Given the description of an element on the screen output the (x, y) to click on. 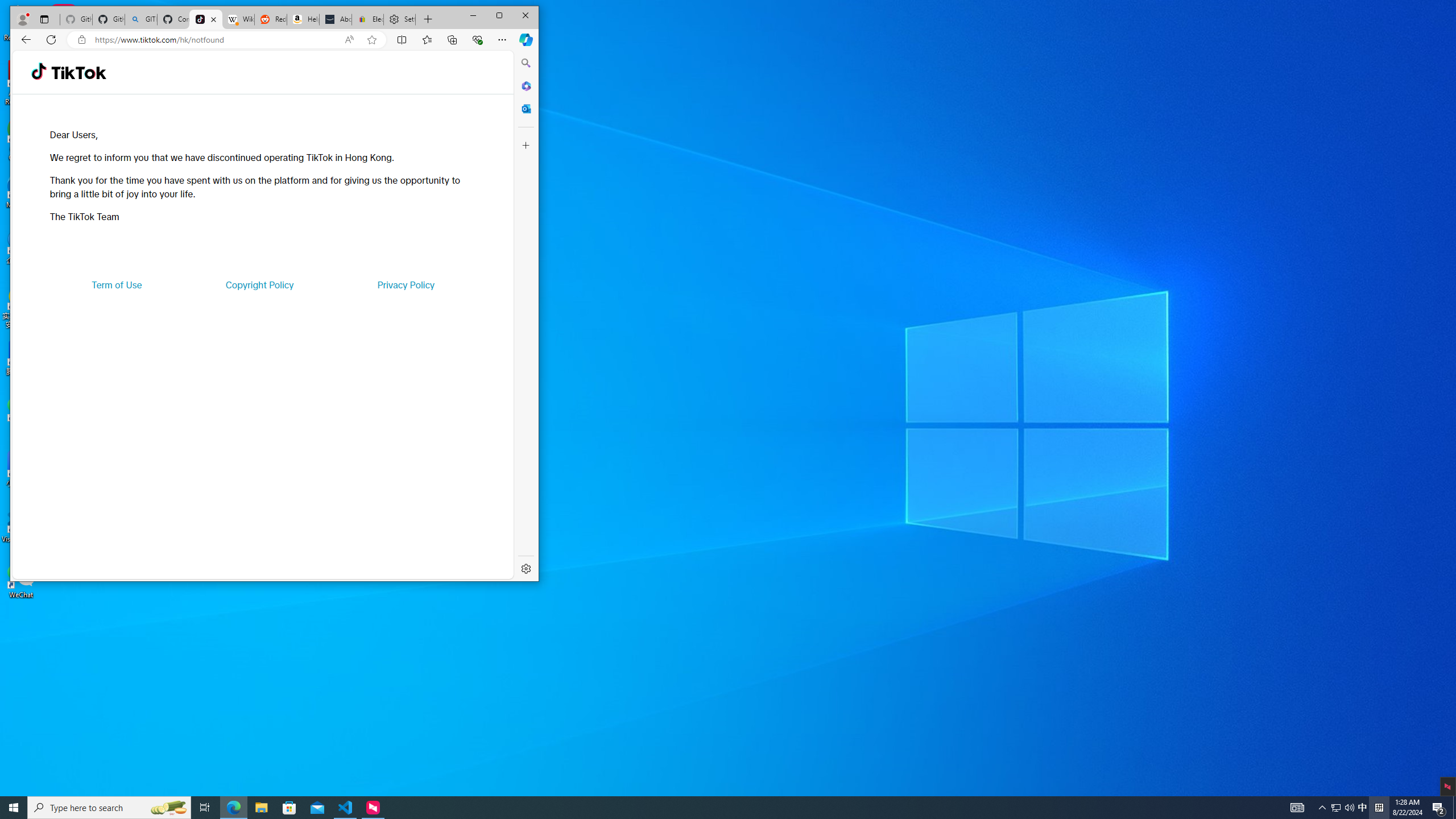
File Explorer (261, 807)
Maximize (499, 15)
Microsoft Store (289, 807)
Visual Studio Code - 1 running window (345, 807)
Reddit - Dive into anything (269, 19)
About Amazon (335, 19)
